Given the description of an element on the screen output the (x, y) to click on. 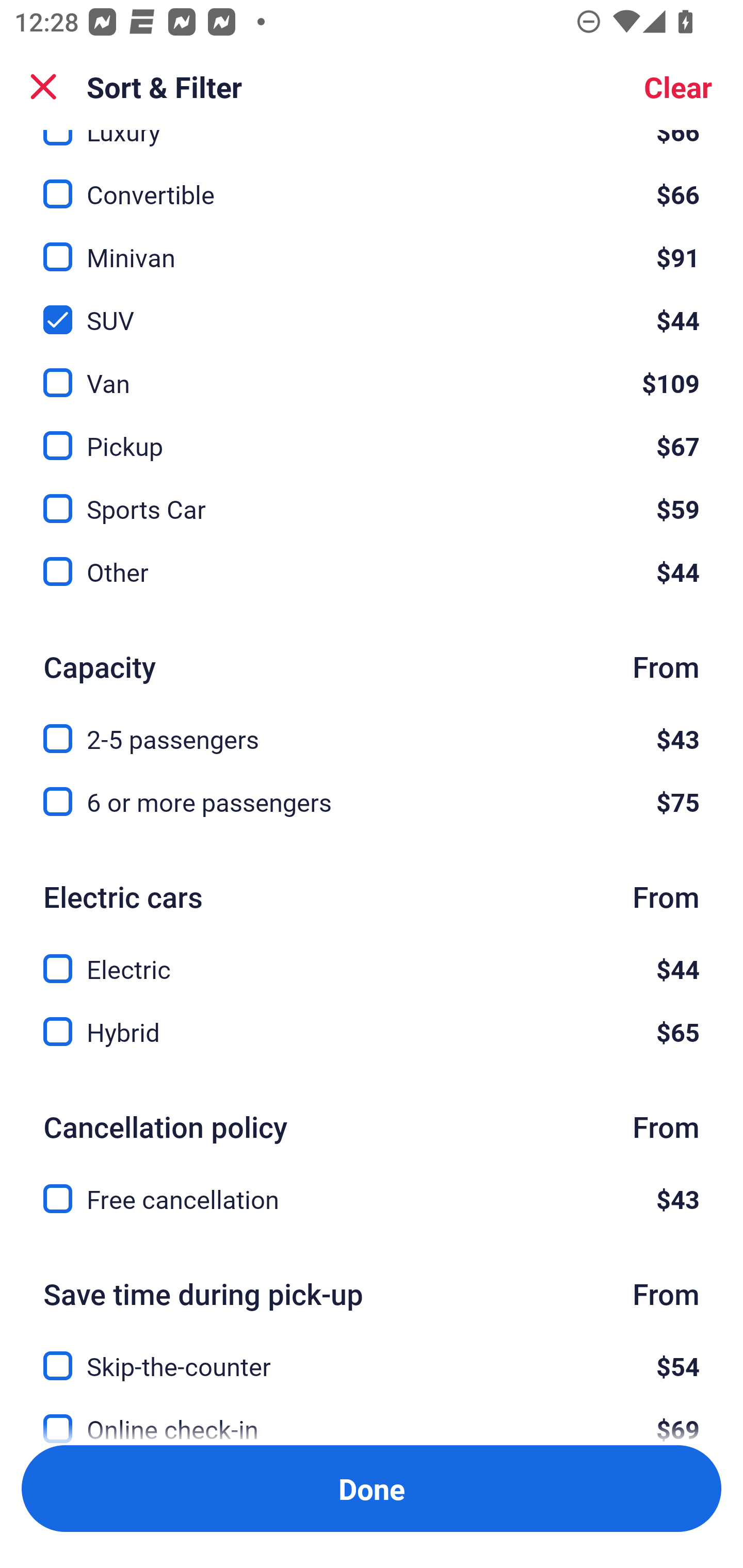
Close Sort and Filter (43, 86)
Clear (677, 86)
Convertible, $66 Convertible $66 (371, 182)
Minivan, $91 Minivan $91 (371, 245)
SUV, $44 SUV $44 (371, 308)
Van, $109 Van $109 (371, 371)
Pickup, $67 Pickup $67 (371, 433)
Sports Car, $59 Sports Car $59 (371, 496)
Other, $44 Other $44 (371, 571)
2-5 passengers, $43 2-5 passengers $43 (371, 727)
6 or more passengers, $75 6 or more passengers $75 (371, 801)
Electric, $44 Electric $44 (371, 957)
Hybrid, $65 Hybrid $65 (371, 1032)
Free cancellation, $43 Free cancellation $43 (371, 1198)
Skip-the-counter, $54 Skip-the-counter $54 (371, 1354)
Online check-in, $69 Online check-in $69 (371, 1415)
Apply and close Sort and Filter Done (371, 1488)
